Given the description of an element on the screen output the (x, y) to click on. 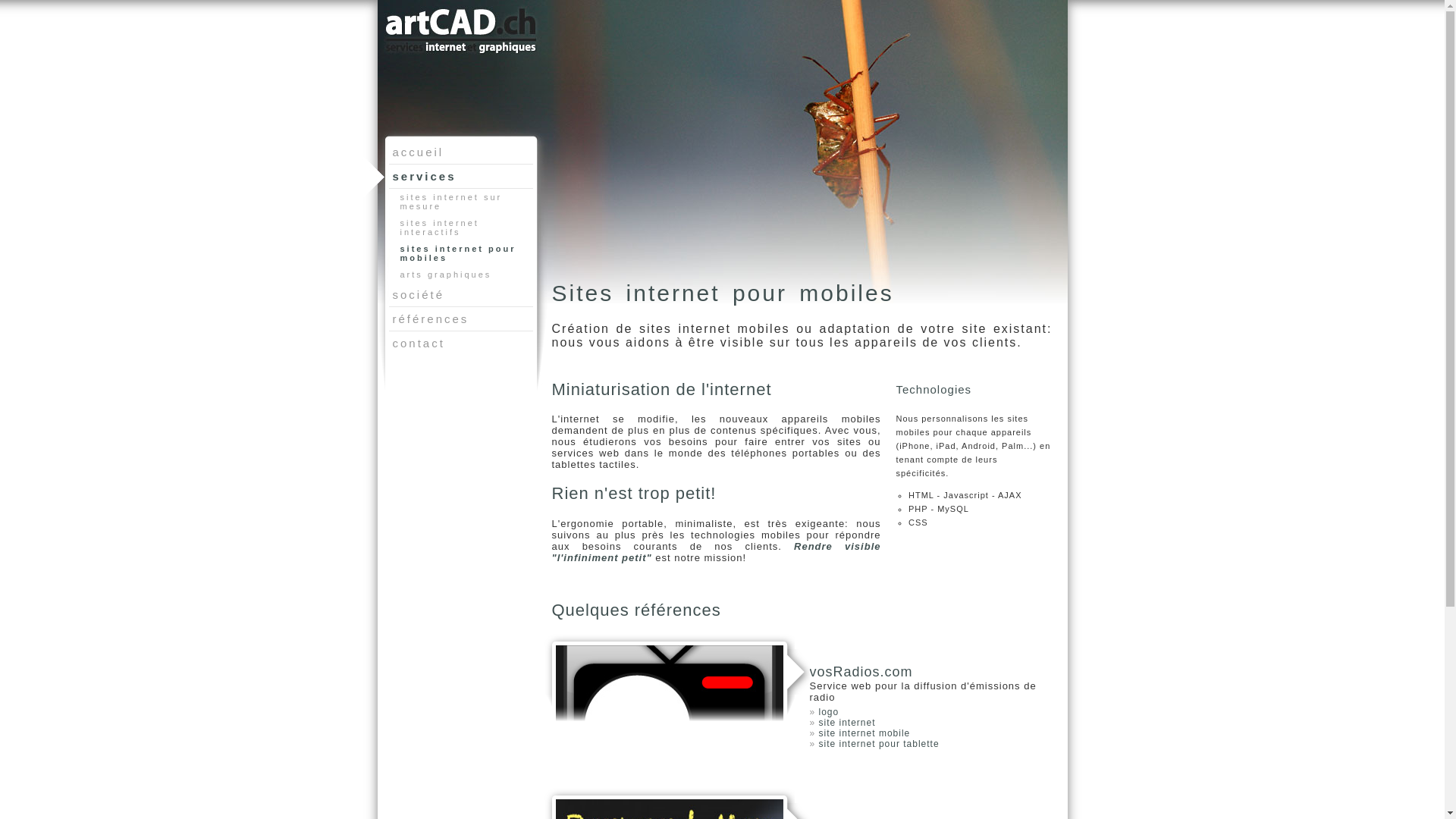
vosRadios.com Element type: text (861, 671)
logo Element type: text (829, 711)
site internet pour tablette Element type: text (879, 743)
site internet mobile Element type: text (864, 733)
services Element type: text (460, 176)
contact Element type: text (460, 342)
sites internet sur mesure Element type: text (463, 201)
site internet Element type: text (847, 722)
arts graphiques Element type: text (463, 274)
sites internet pour mobiles Element type: text (463, 253)
sites internet interactifs Element type: text (463, 227)
accueil Element type: text (460, 151)
